Given the description of an element on the screen output the (x, y) to click on. 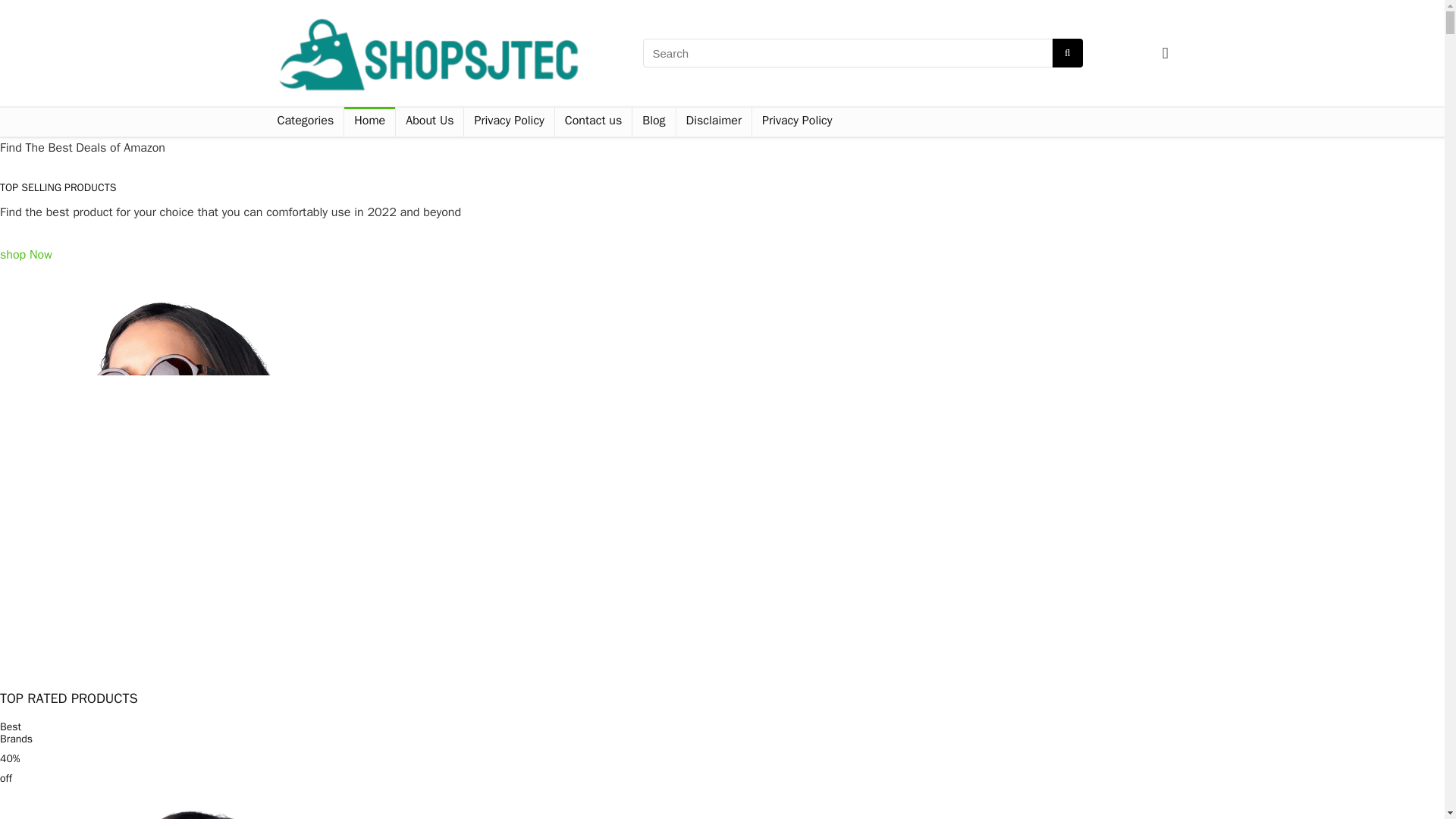
Disclaimer (714, 121)
Categories (304, 121)
Blog (653, 121)
About Us (429, 121)
Contact us (592, 121)
Home (368, 121)
shop Now (26, 265)
Privacy Policy (508, 121)
Privacy Policy (796, 121)
